Given the description of an element on the screen output the (x, y) to click on. 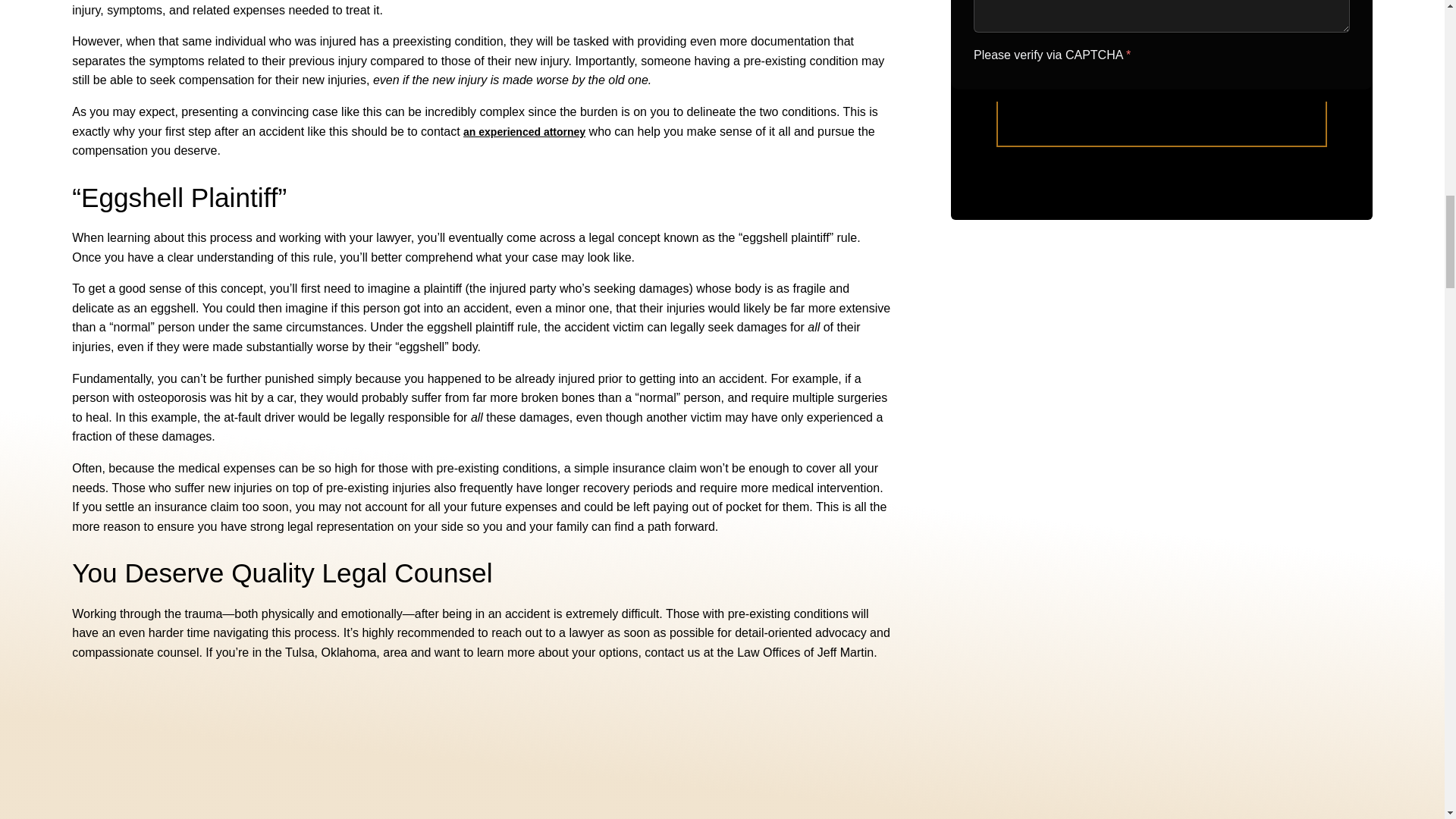
an experienced attorney (524, 132)
nkyHqmcTZWus (1161, 44)
